Given the description of an element on the screen output the (x, y) to click on. 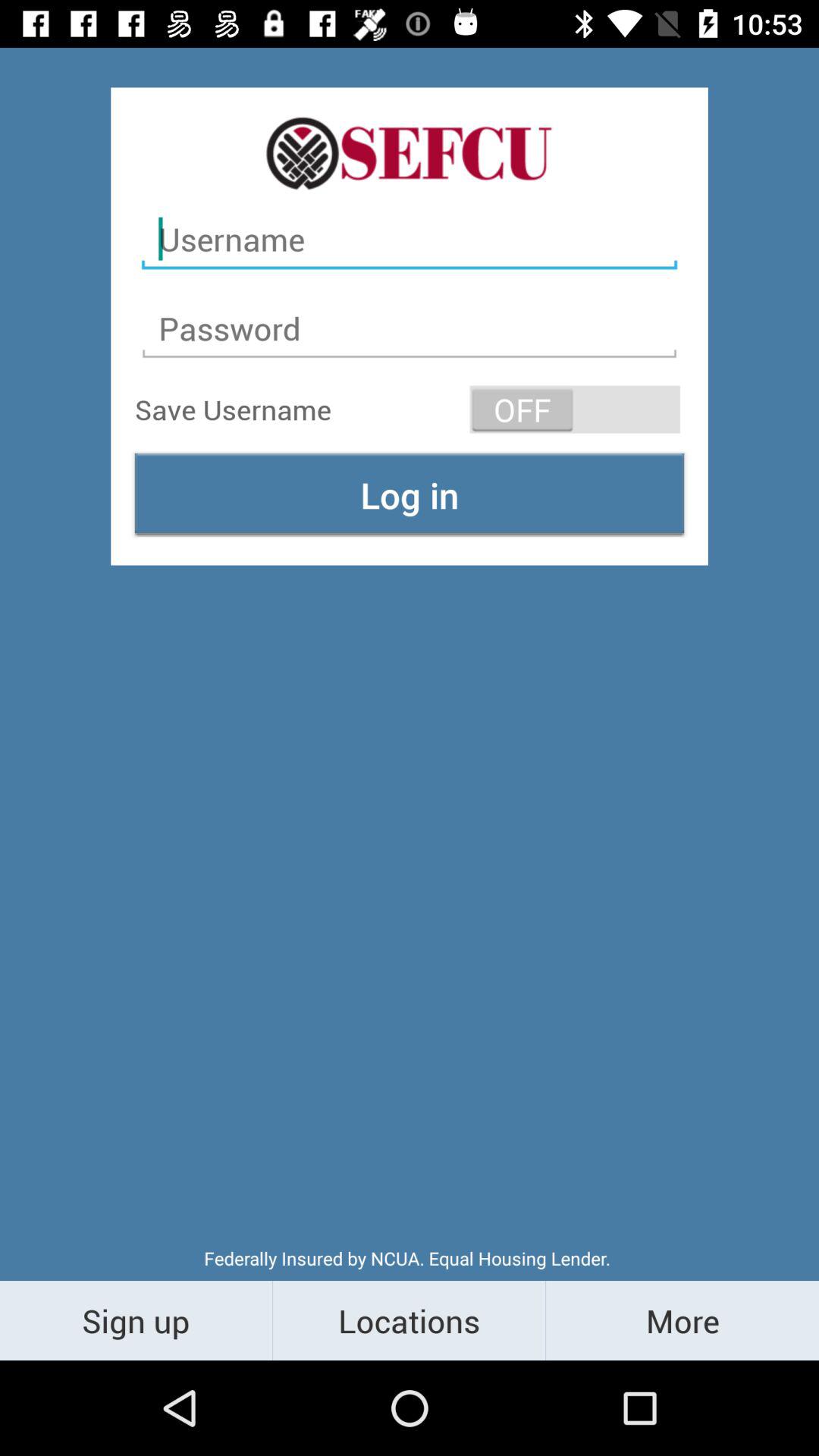
turn on the icon next to the save username icon (574, 409)
